Given the description of an element on the screen output the (x, y) to click on. 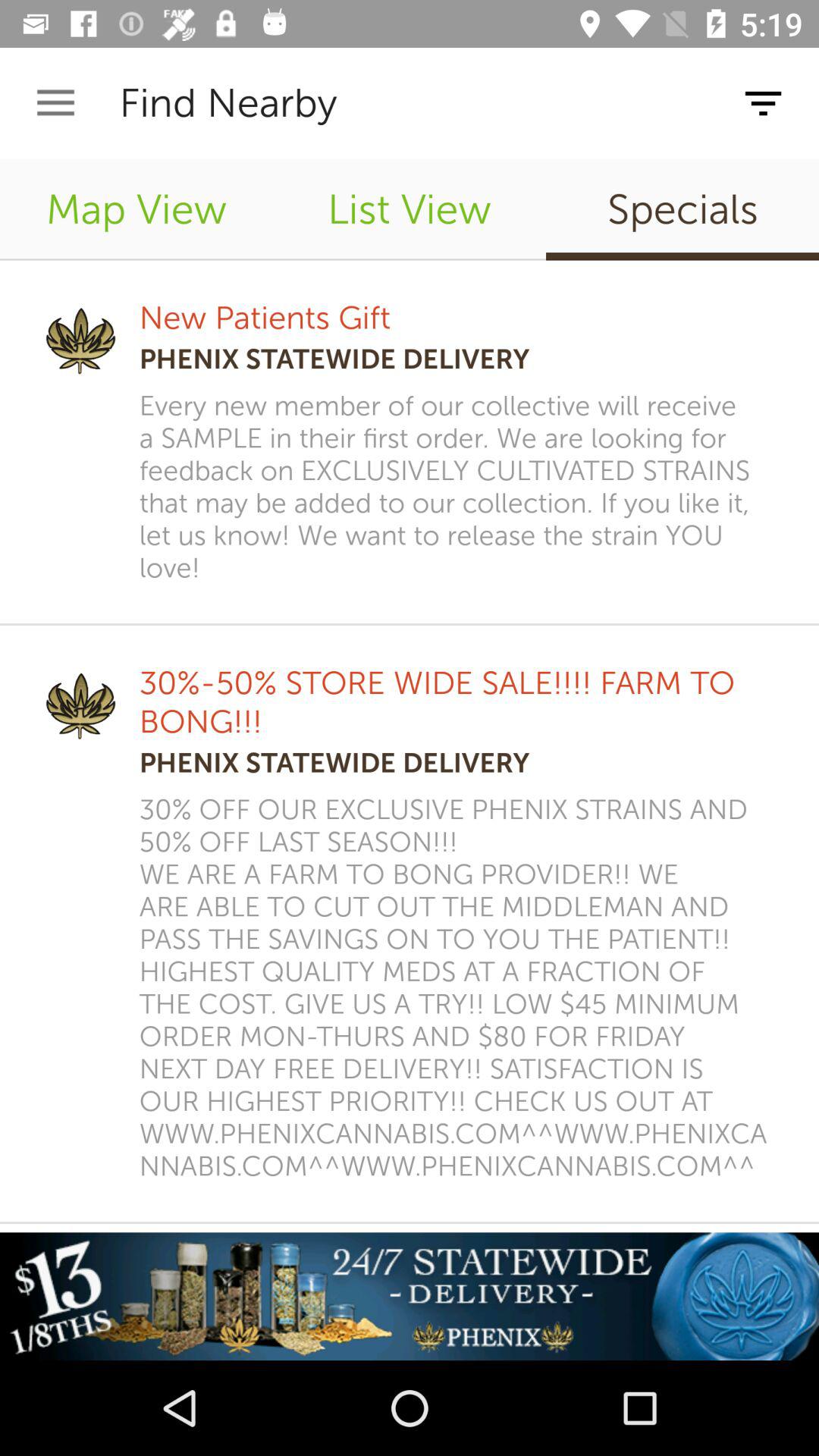
choose the item above new patients gift item (409, 209)
